Given the description of an element on the screen output the (x, y) to click on. 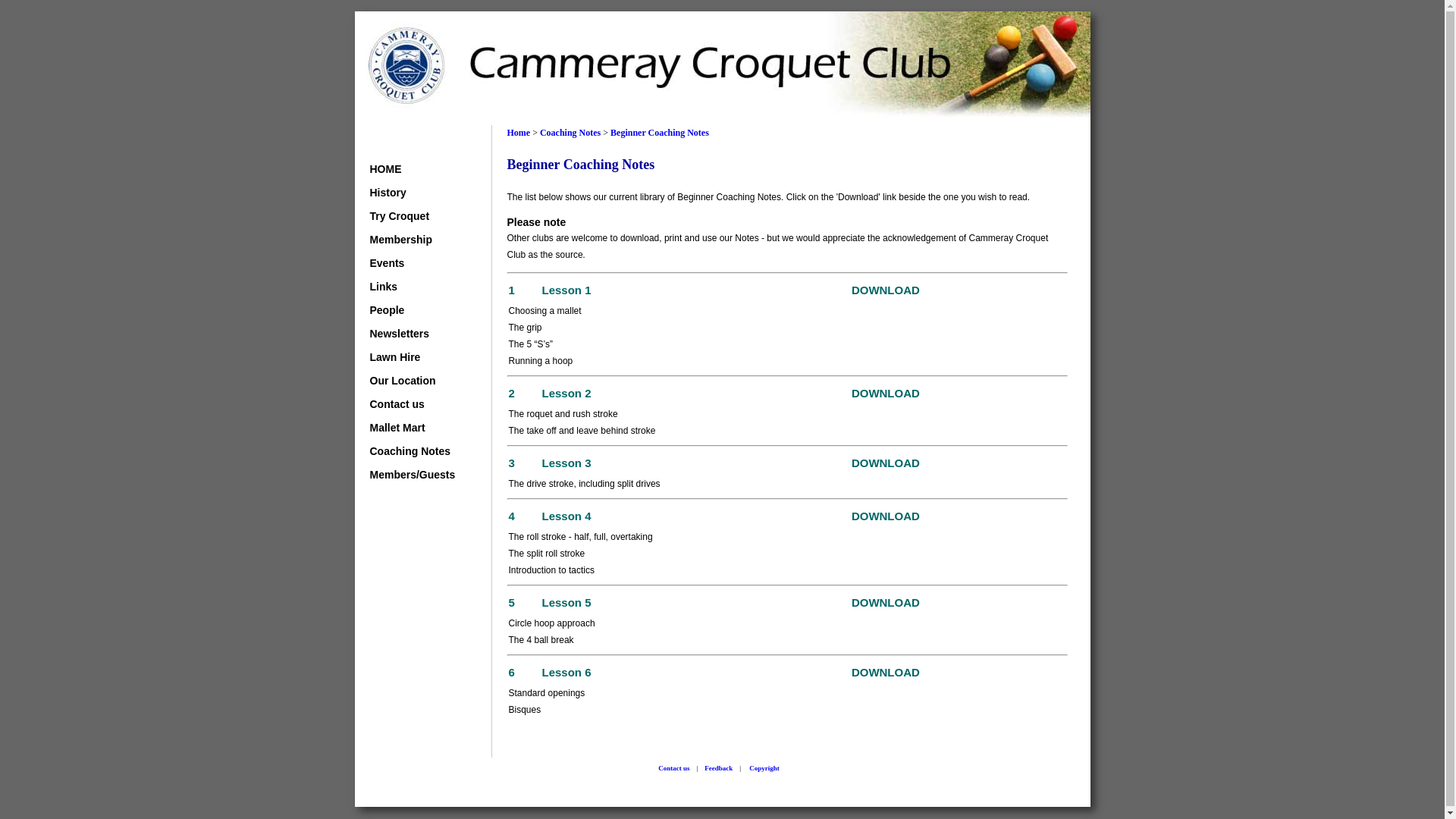
DOWNLOAD Element type: text (885, 603)
Contact us Element type: text (673, 767)
Membership Element type: text (414, 239)
DOWNLOAD Element type: text (885, 290)
Mallet Mart Element type: text (414, 427)
DOWNLOAD Element type: text (885, 673)
Try Croquet Element type: text (414, 216)
Coaching Notes Element type: text (569, 132)
People Element type: text (414, 310)
Coaching Notes Element type: text (414, 451)
Copyright Element type: text (764, 767)
Newsletters Element type: text (414, 333)
Links Element type: text (414, 286)
Our Location Element type: text (414, 380)
Lawn Hire Element type: text (414, 357)
DOWNLOAD Element type: text (885, 394)
HOME Element type: text (414, 169)
Contact us Element type: text (414, 404)
Feedback Element type: text (718, 767)
Home Element type: text (518, 132)
DOWNLOAD Element type: text (885, 516)
Members/Guests Element type: text (414, 474)
History Element type: text (414, 192)
Beginner Coaching Notes Element type: text (659, 132)
Events Element type: text (414, 263)
DOWNLOAD Element type: text (885, 463)
